Given the description of an element on the screen output the (x, y) to click on. 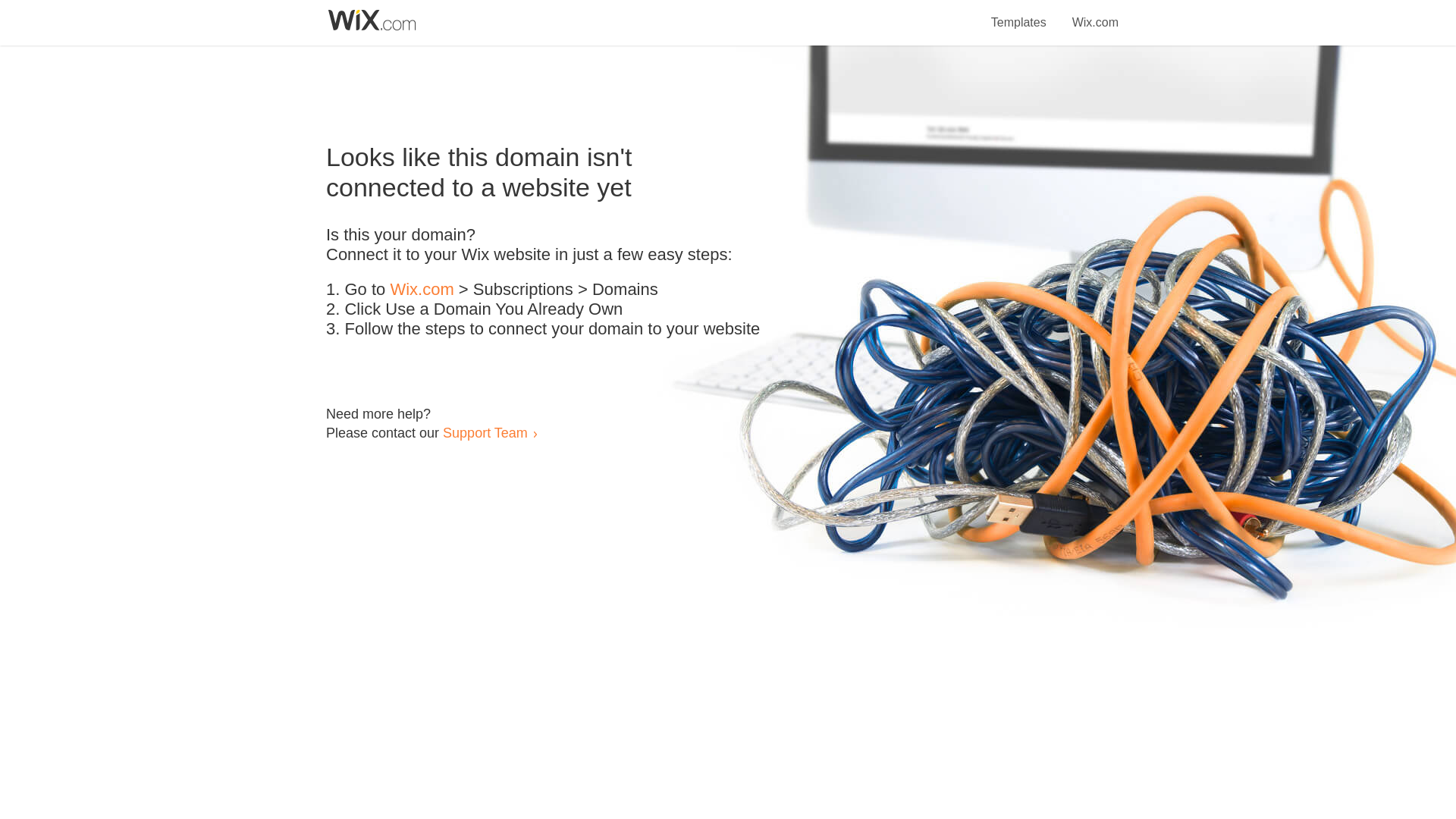
Wix.com (1095, 14)
Templates (1018, 14)
Wix.com (421, 289)
Support Team (484, 432)
